Given the description of an element on the screen output the (x, y) to click on. 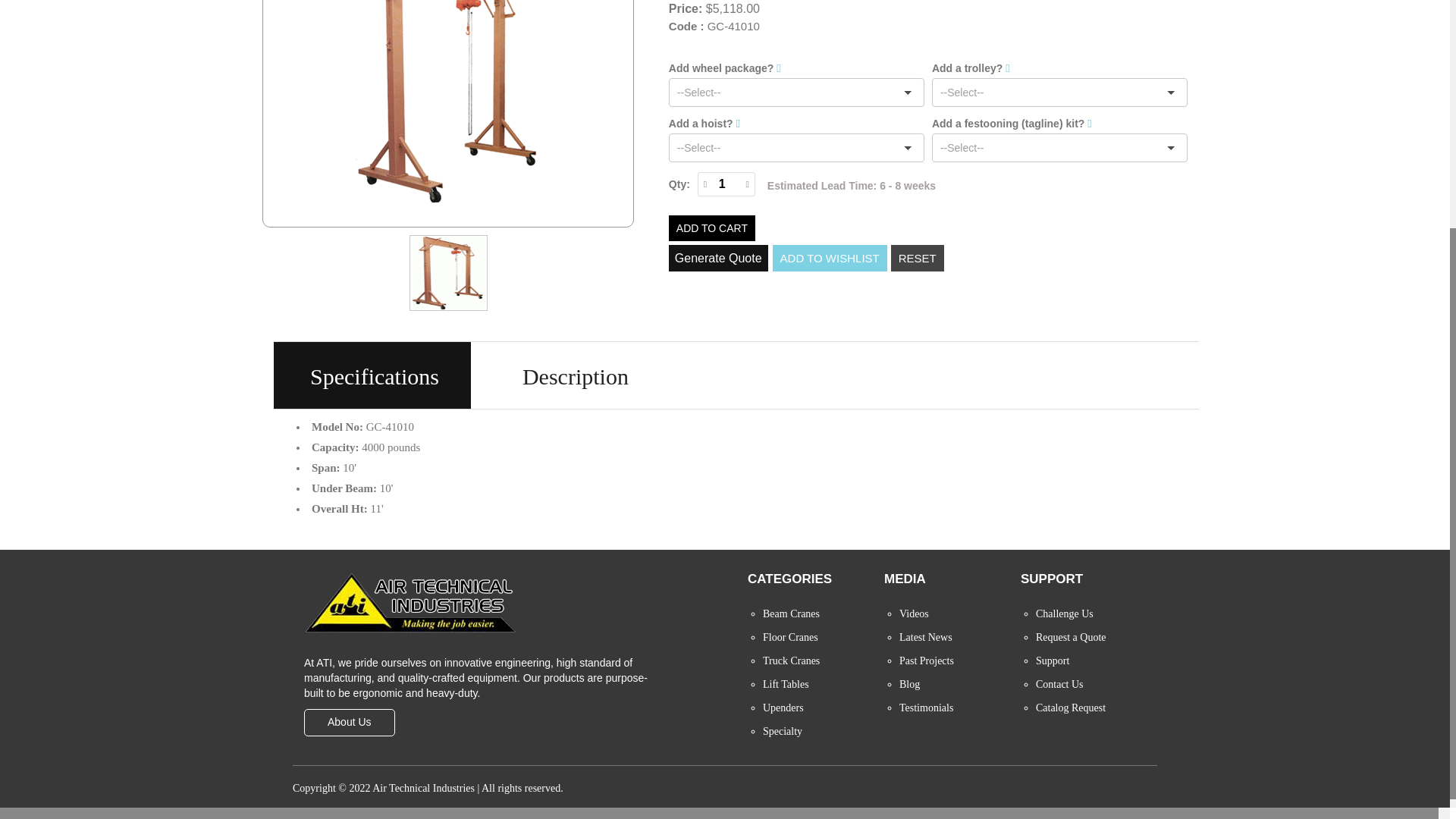
Estimated Lead Time (851, 185)
1 (721, 184)
